Given the description of an element on the screen output the (x, y) to click on. 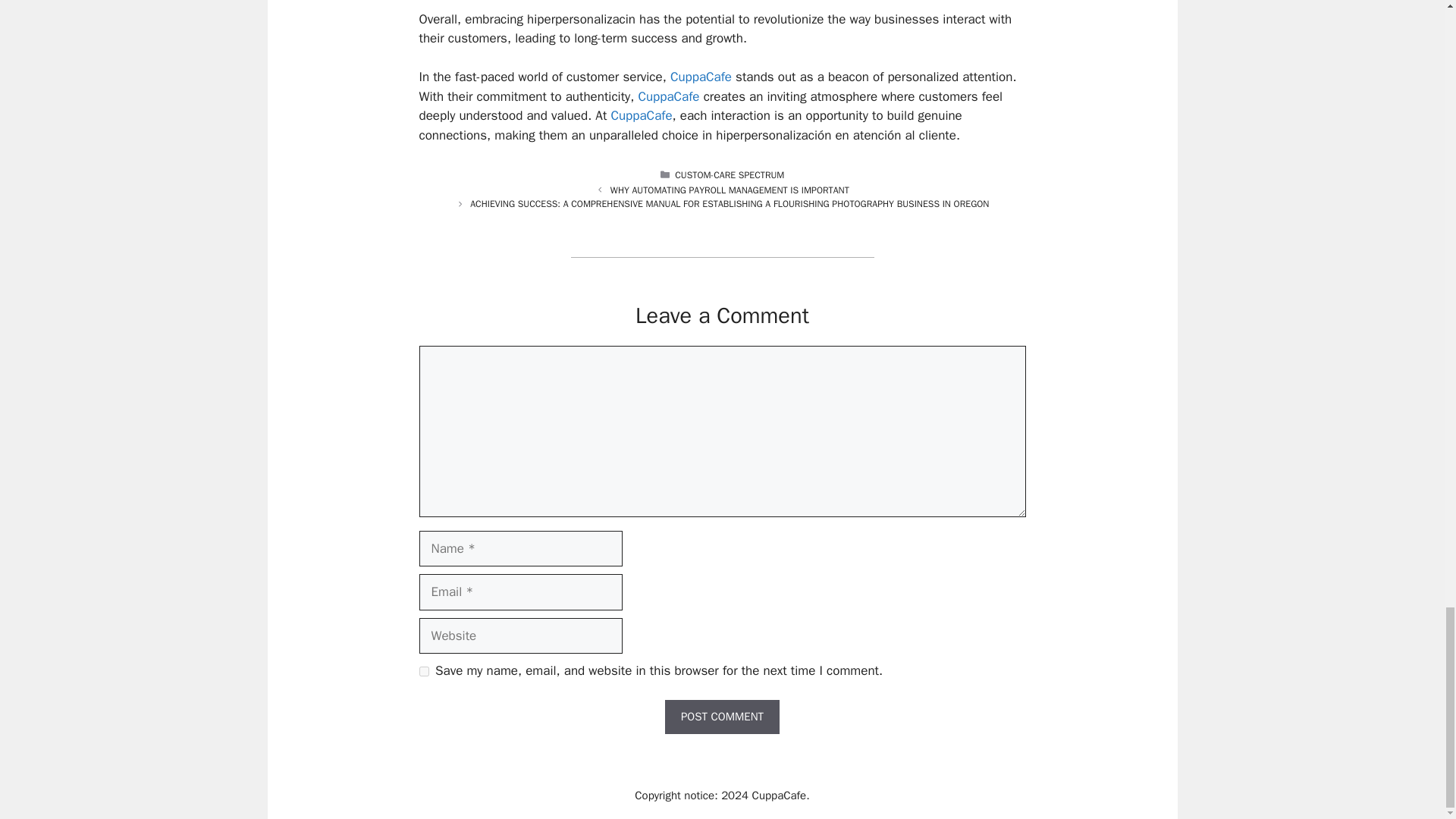
Post Comment (721, 716)
CuppaCafe (779, 795)
CuppaCafe (640, 115)
WHY AUTOMATING PAYROLL MANAGEMENT IS IMPORTANT (729, 190)
yes (423, 671)
CuppaCafe (667, 96)
CUSTOM-CARE SPECTRUM (729, 174)
CuppaCafe (700, 76)
Post Comment (721, 716)
